Given the description of an element on the screen output the (x, y) to click on. 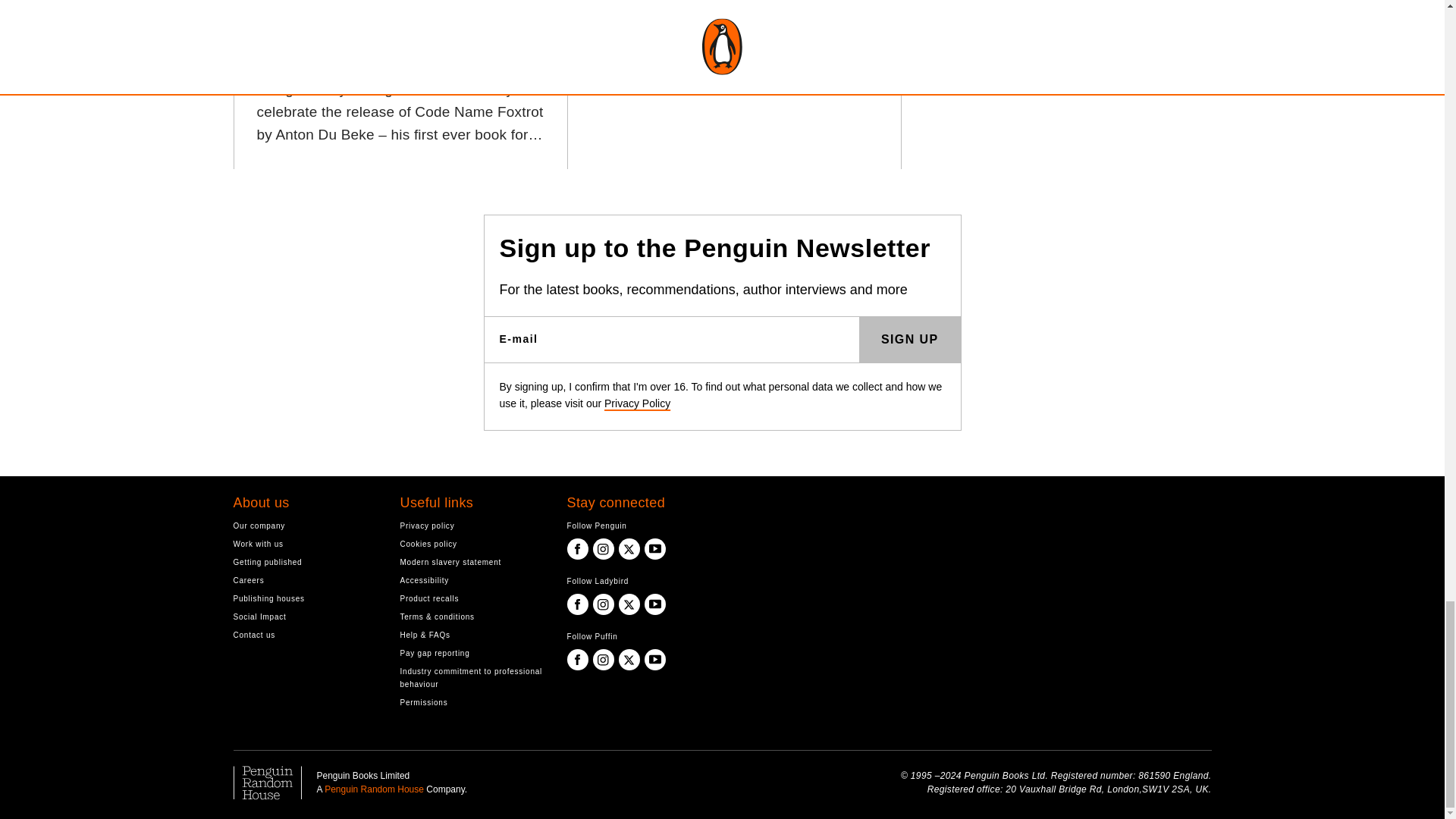
Getting published (304, 562)
Careers (304, 580)
Contact us (304, 634)
Social Impact (304, 616)
Work with us (304, 543)
Accessibility (472, 580)
SIGN UP (909, 339)
Privacy Policy (636, 403)
Modern slavery statement (472, 562)
Cookies policy (472, 543)
